Given the description of an element on the screen output the (x, y) to click on. 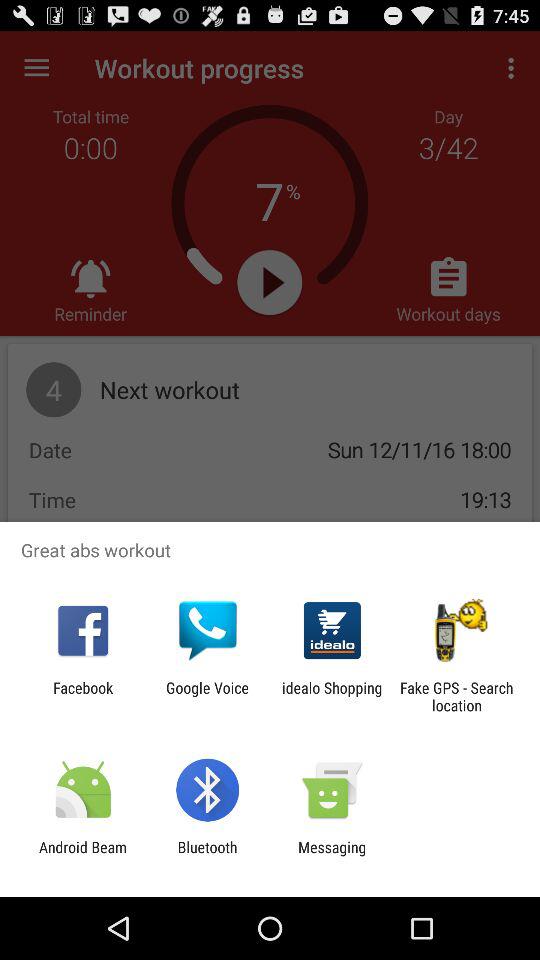
click the icon next to the messaging (207, 856)
